Given the description of an element on the screen output the (x, y) to click on. 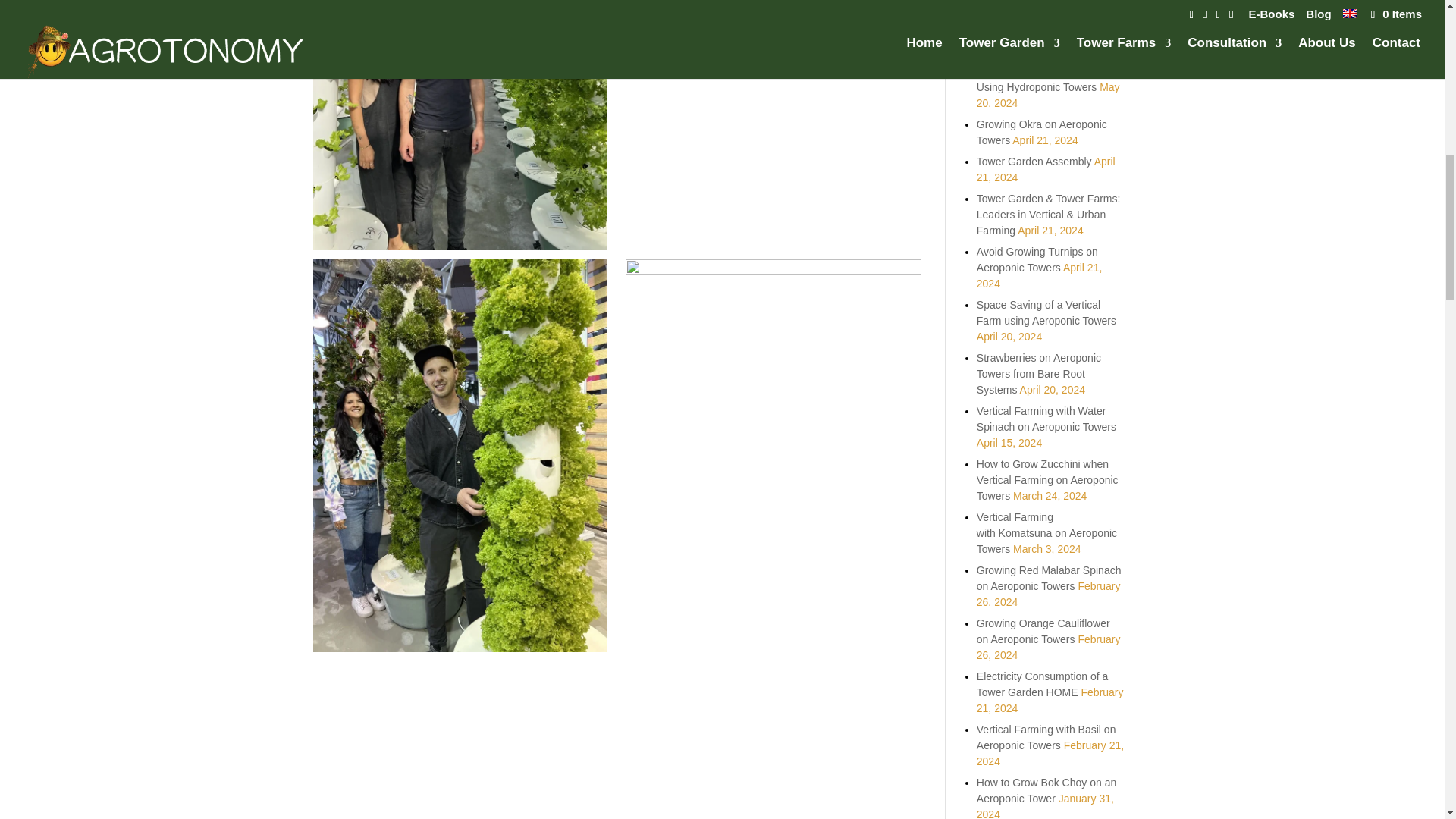
visit-tower-farm (773, 125)
visiting-a-vertical-farm (460, 125)
